Given the description of an element on the screen output the (x, y) to click on. 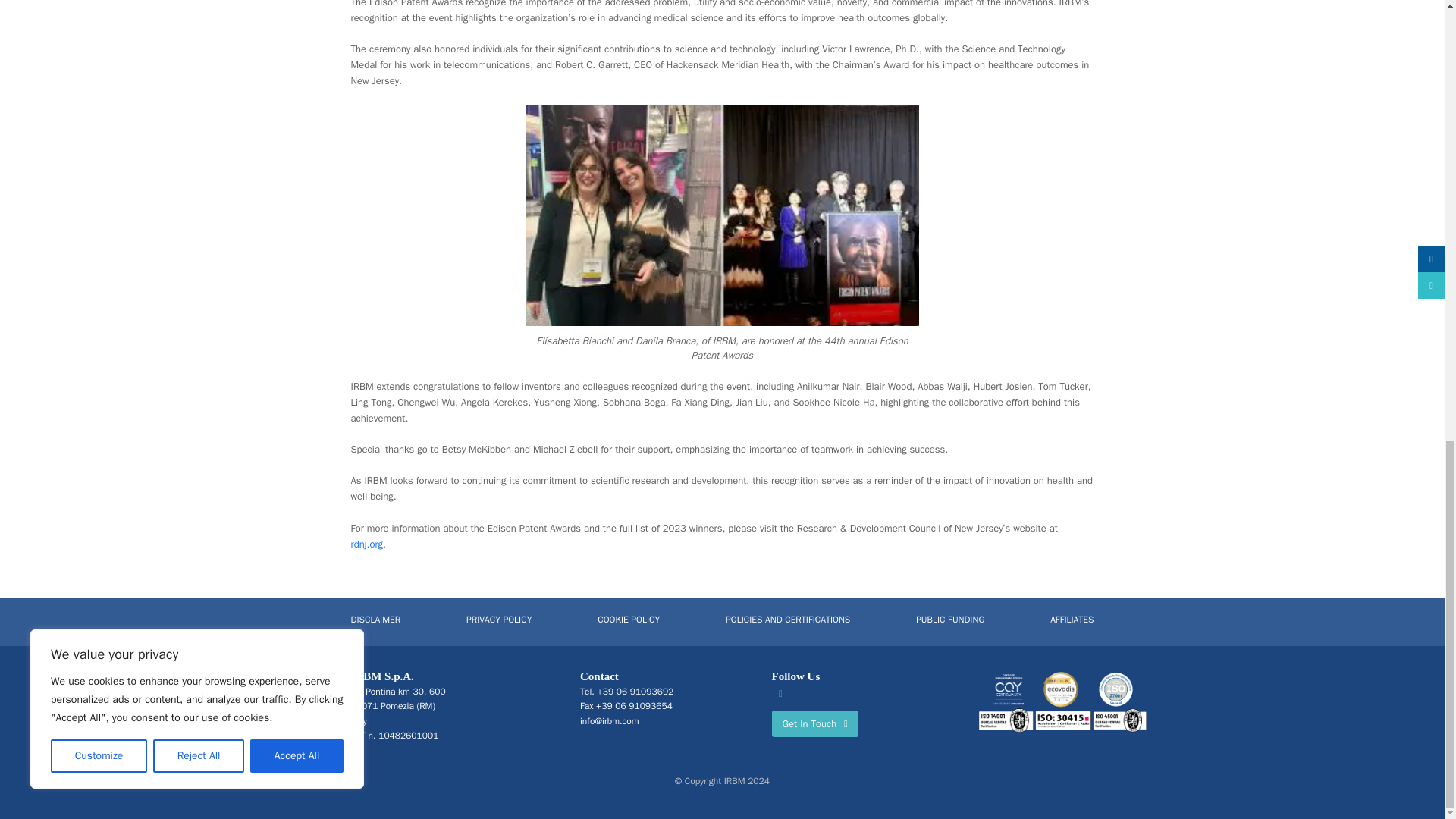
LinkedIn (780, 693)
